Given the description of an element on the screen output the (x, y) to click on. 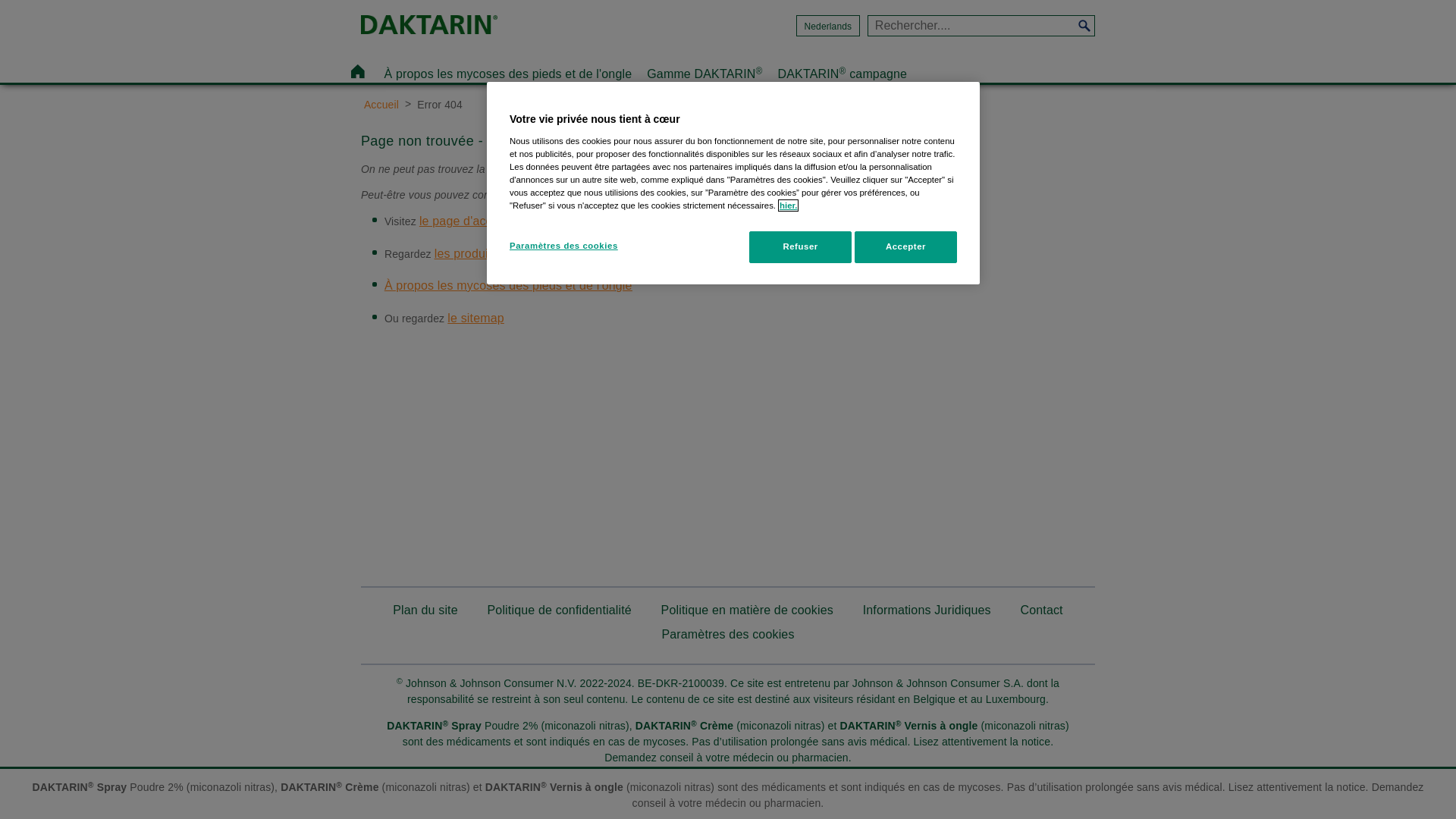
le page d'accueil Element type: text (465, 220)
hier. Element type: text (788, 205)
Contact Element type: text (1040, 609)
Informations Juridiques Element type: text (926, 609)
Enter the terms you wish to search for. Element type: hover (971, 25)
Accueil Element type: hover (470, 27)
Home Element type: text (357, 71)
Plan du site Element type: text (425, 609)
Skip to main content Element type: text (51, 0)
Search Element type: text (1084, 25)
Accueil Element type: text (380, 104)
le sitemap Element type: text (475, 317)
Nederlands Element type: text (828, 26)
Refuser Element type: text (800, 247)
Accepter Element type: text (905, 247)
